Given the description of an element on the screen output the (x, y) to click on. 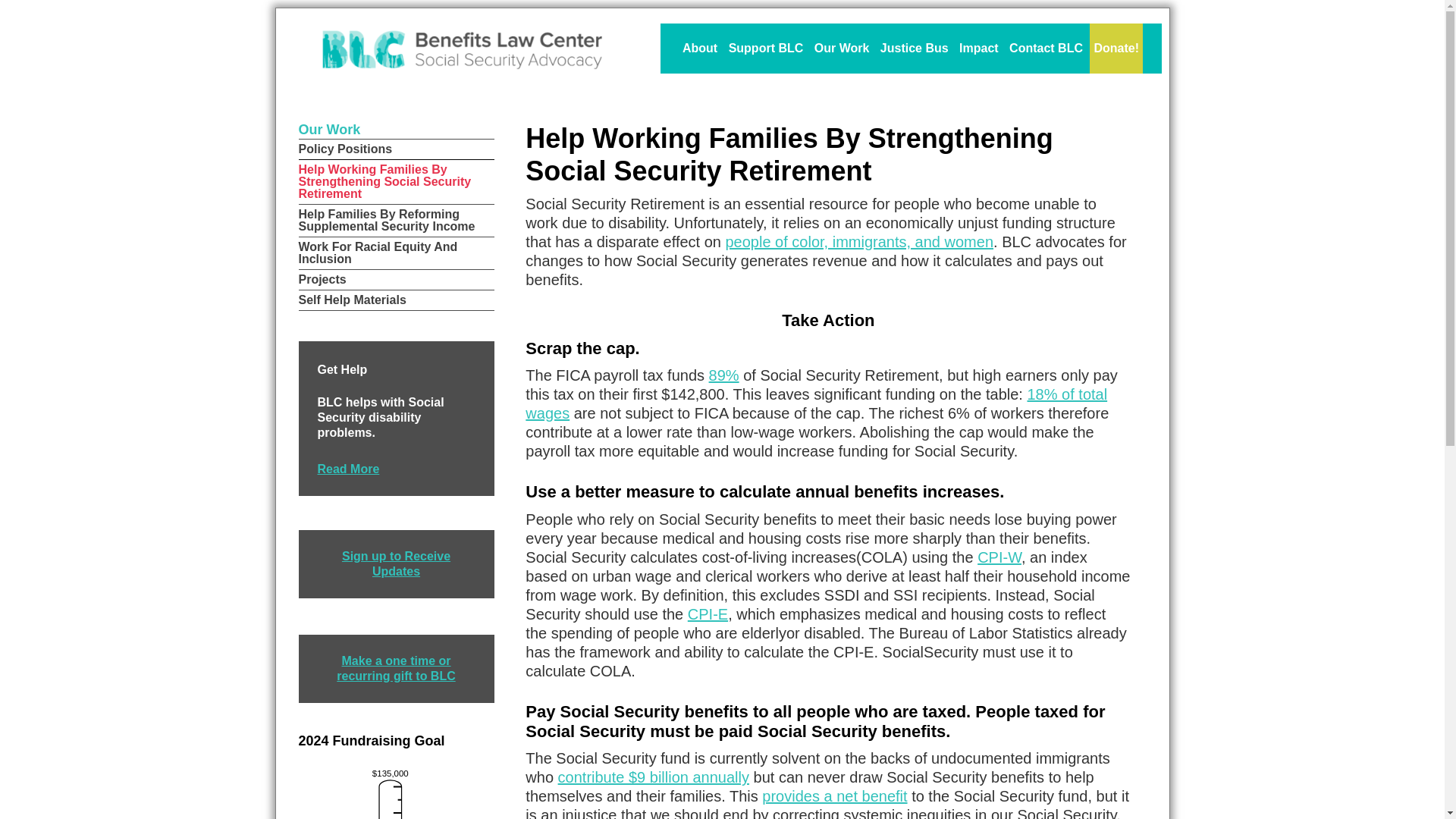
Our Work (841, 48)
people of color, immigrants, and women (858, 241)
Justice Bus (914, 48)
Benefits Law Center (461, 49)
Support BLC (766, 48)
Donate! (1115, 48)
Contact BLC (1046, 48)
Impact (979, 48)
